Given the description of an element on the screen output the (x, y) to click on. 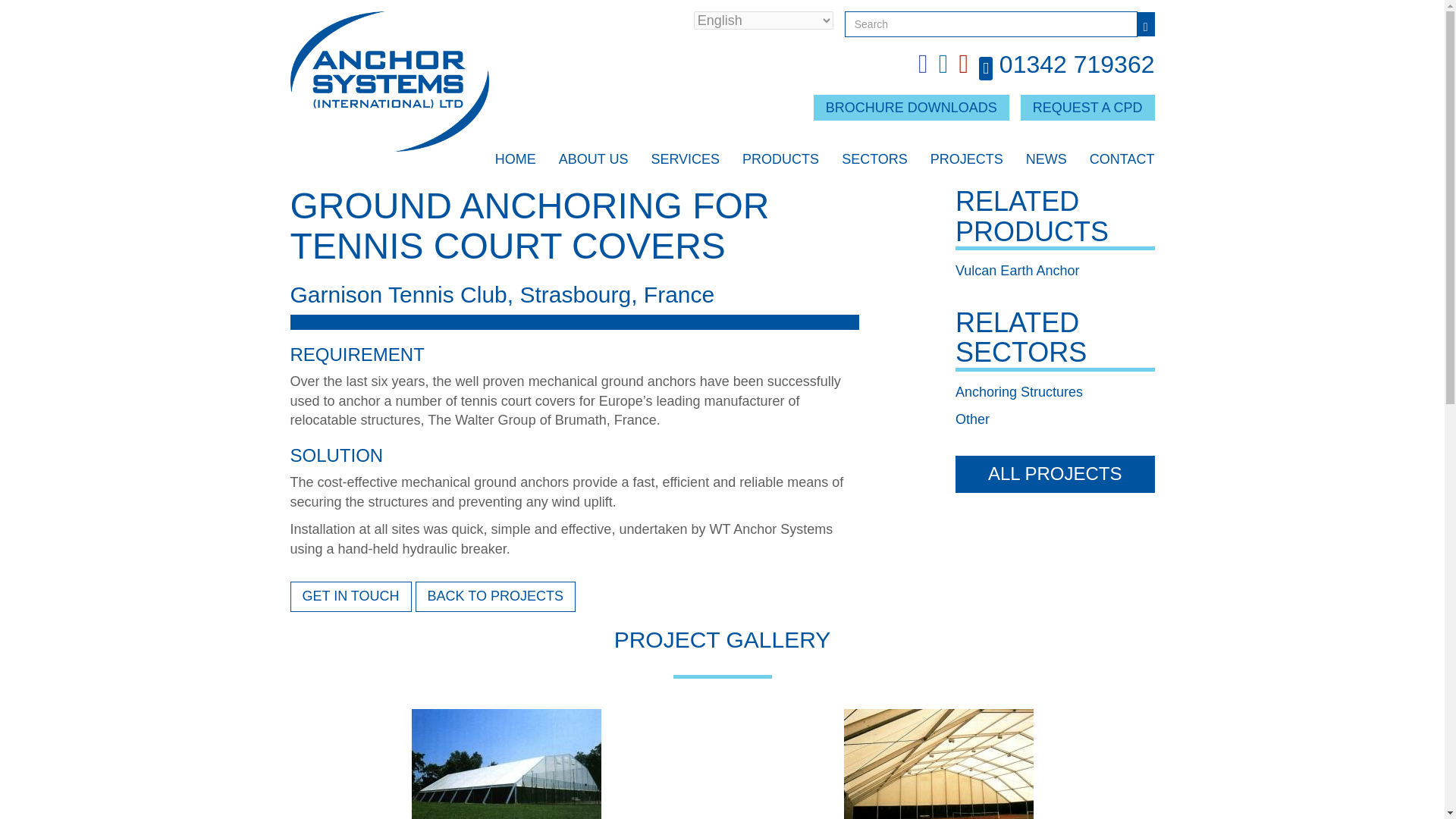
SECTORS (874, 164)
BROCHURE DOWNLOADS (911, 107)
HOME (515, 164)
SERVICES (684, 164)
REQUEST A CPD (1087, 107)
ABOUT US (593, 164)
01342 719362 (1076, 63)
PRODUCTS (780, 164)
